Given the description of an element on the screen output the (x, y) to click on. 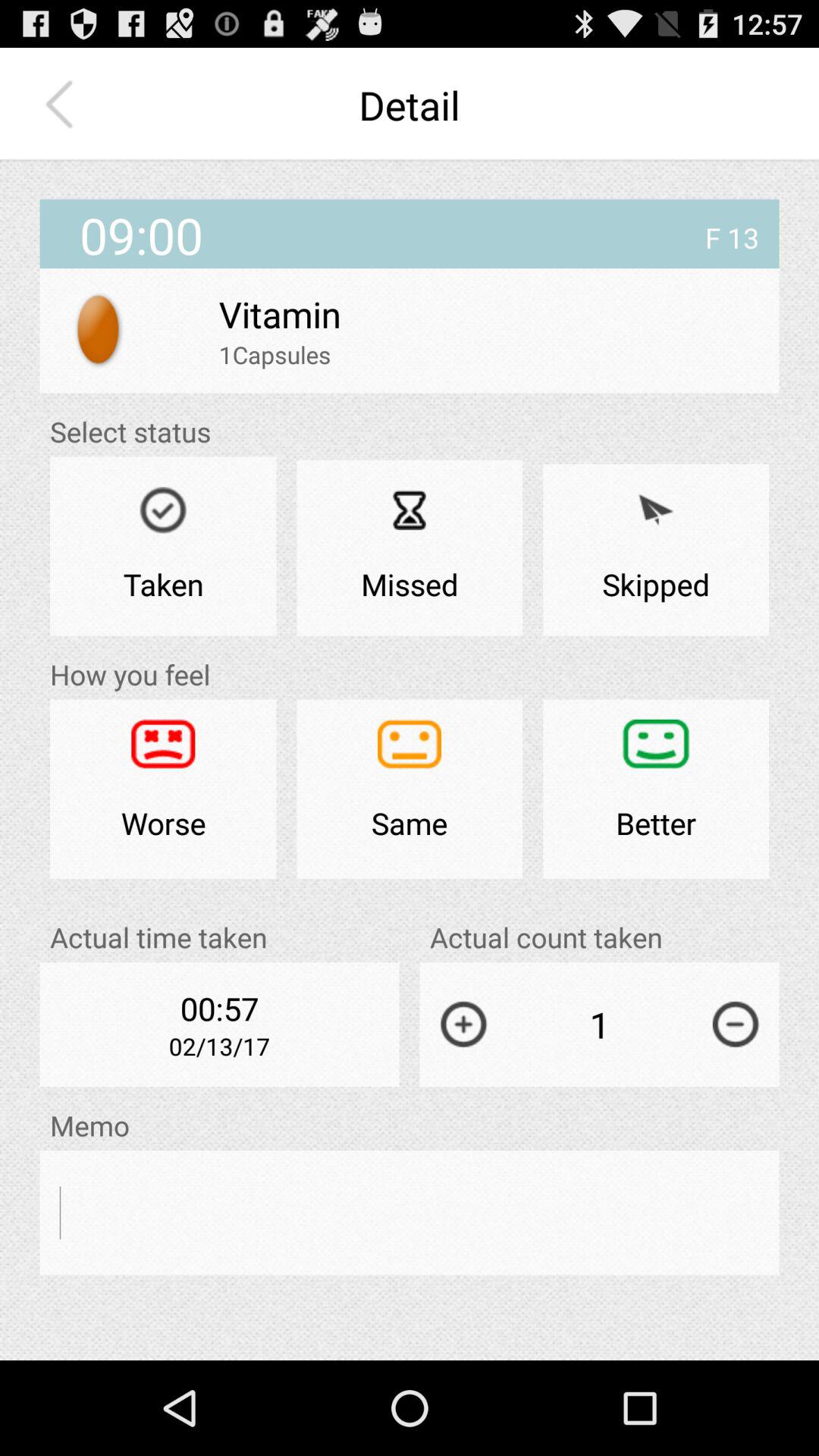
launch icon above the actual time taken (409, 788)
